Given the description of an element on the screen output the (x, y) to click on. 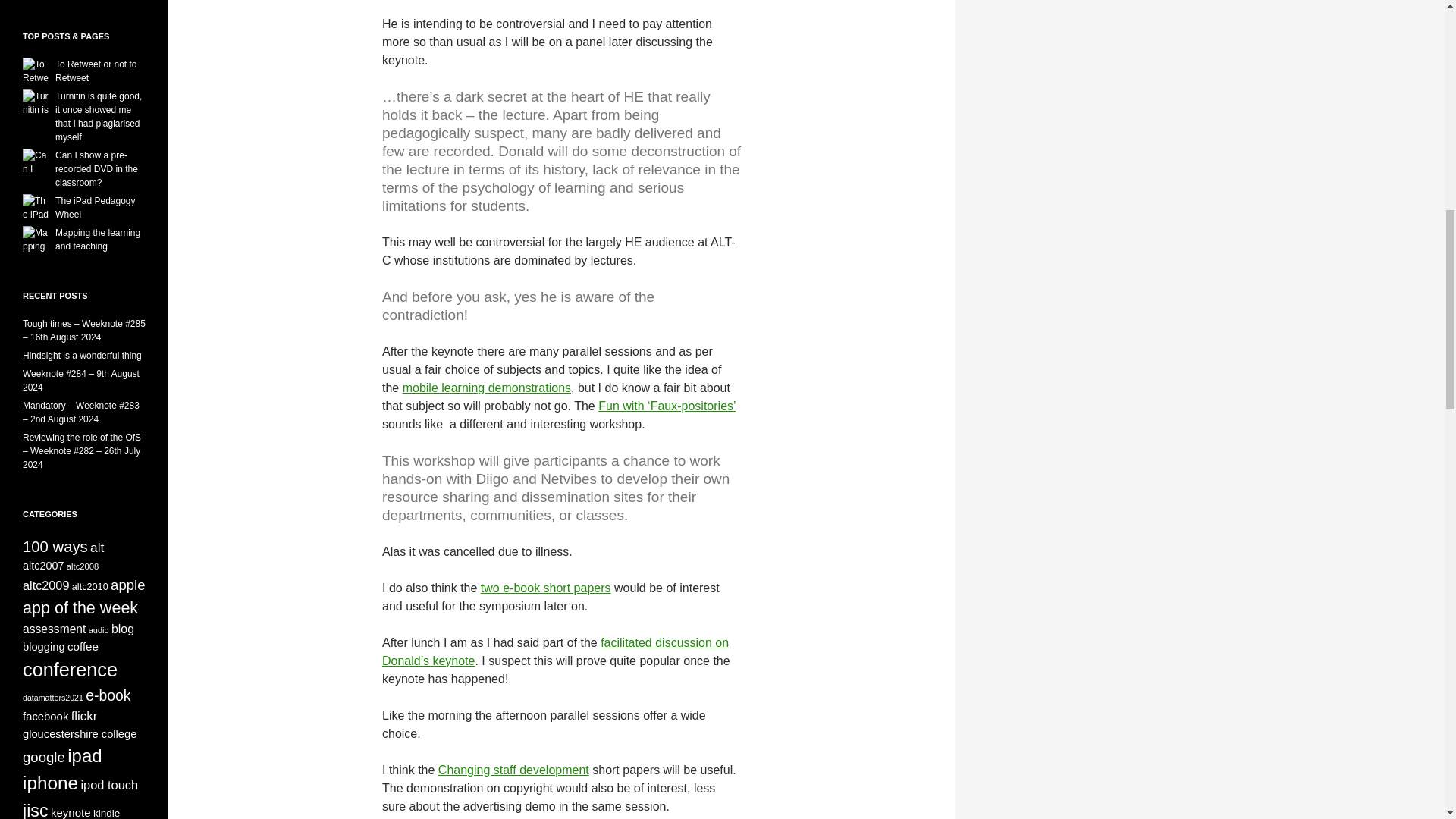
mobile learning demonstrations (486, 387)
two e-book short papers (545, 587)
Changing staff development (513, 769)
To Retweet or not to Retweet (95, 70)
